Given the description of an element on the screen output the (x, y) to click on. 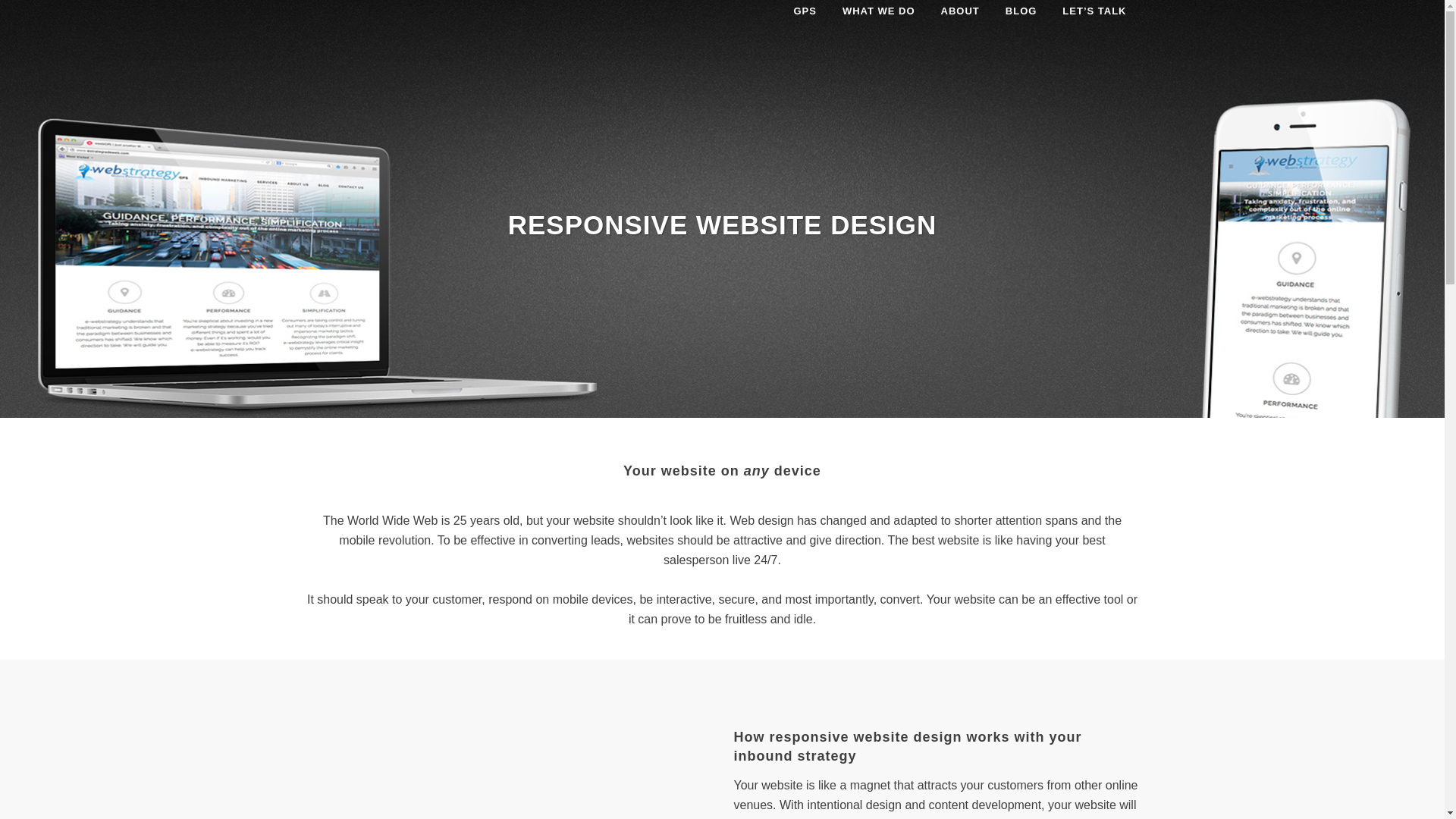
GPS (804, 11)
ABOUT (960, 11)
BLOG (1020, 11)
WHAT WE DO (878, 11)
